Given the description of an element on the screen output the (x, y) to click on. 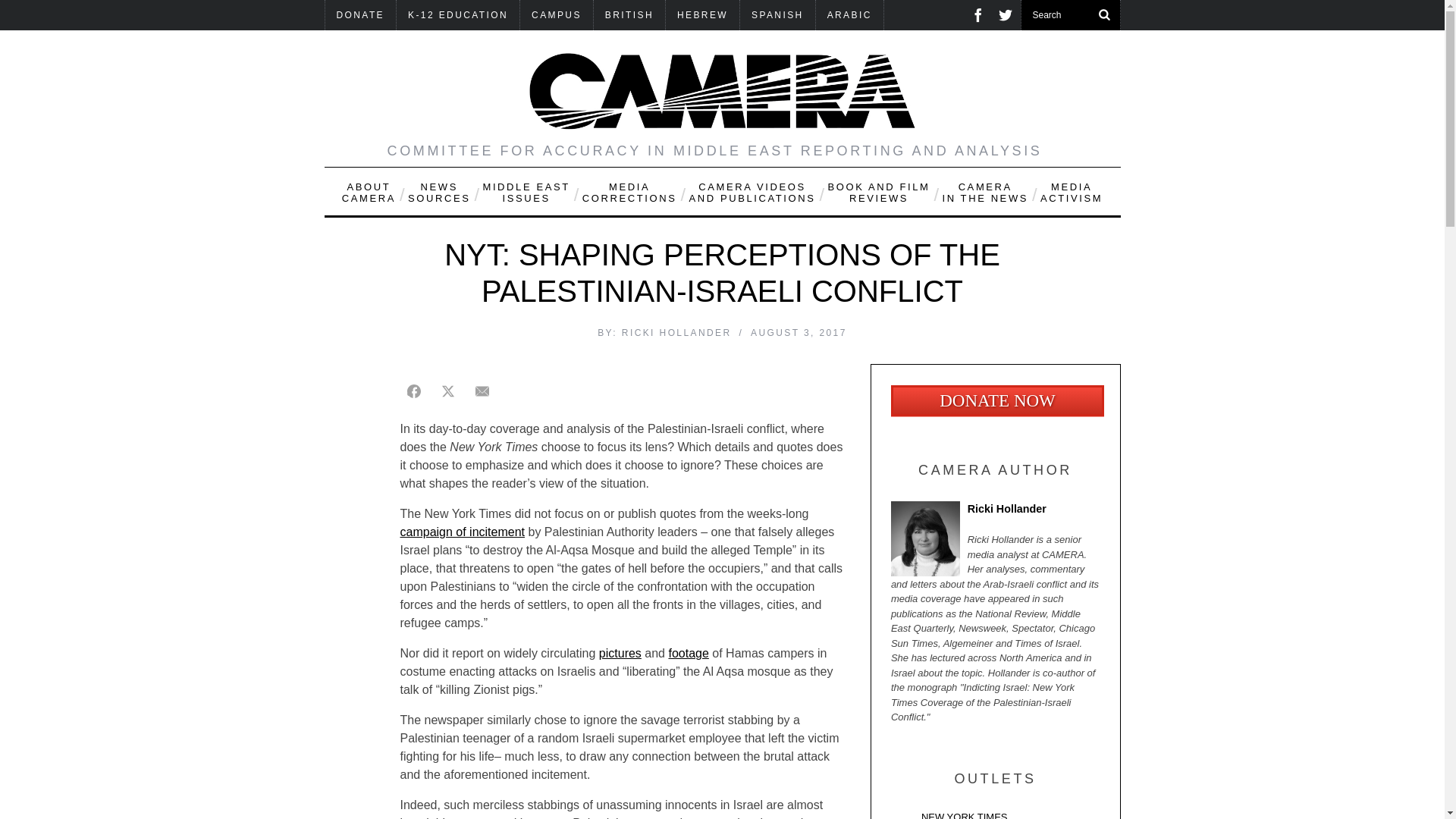
Share on E-mail (482, 390)
Search (1070, 15)
Share on Twitter (447, 390)
Ricki Hollander (995, 512)
New York Times (995, 814)
Book and Film Reviews (878, 191)
Share on Facebook (414, 390)
